Given the description of an element on the screen output the (x, y) to click on. 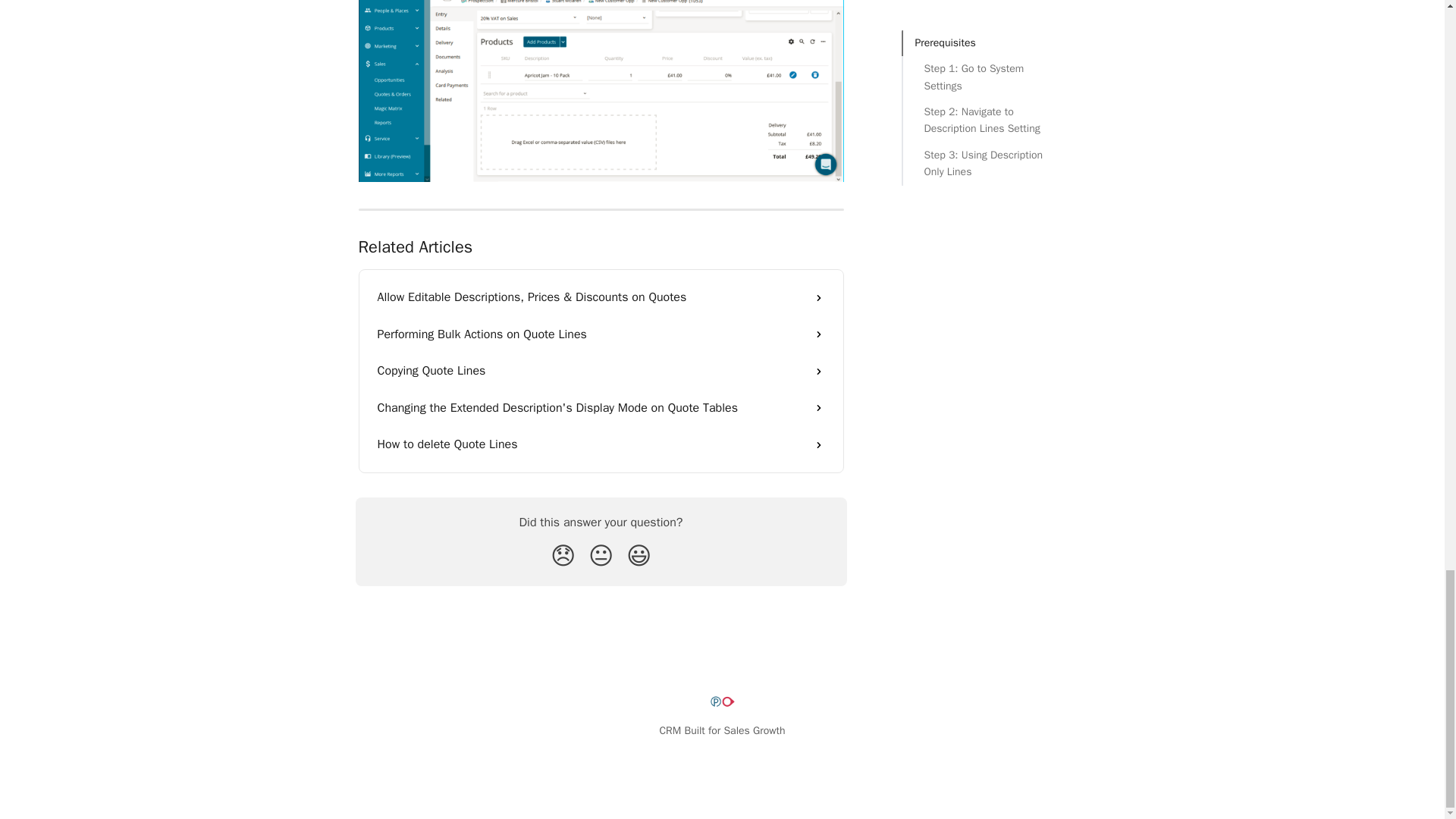
Performing Bulk Actions on Quote Lines (601, 334)
Copying Quote Lines (601, 370)
How to delete Quote Lines (601, 443)
